Given the description of an element on the screen output the (x, y) to click on. 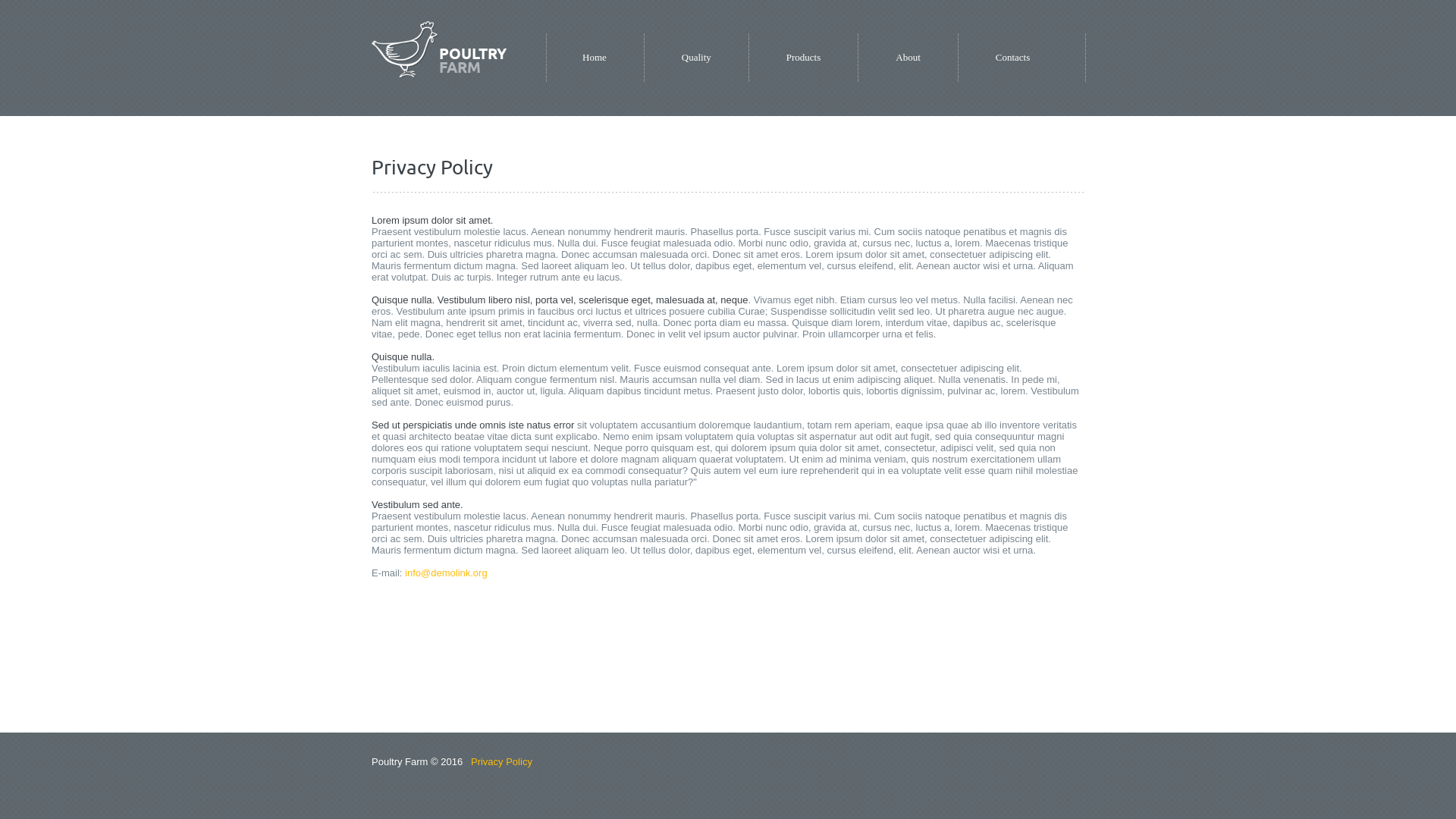
Contacts Element type: text (1012, 57)
About Element type: text (907, 57)
Home Element type: text (594, 57)
Privacy Policy Element type: text (501, 761)
info@demolink.org Element type: text (445, 572)
FARM Element type: text (459, 65)
Products Element type: text (803, 57)
Quality Element type: text (696, 57)
POULTRY Element type: text (472, 52)
